Given the description of an element on the screen output the (x, y) to click on. 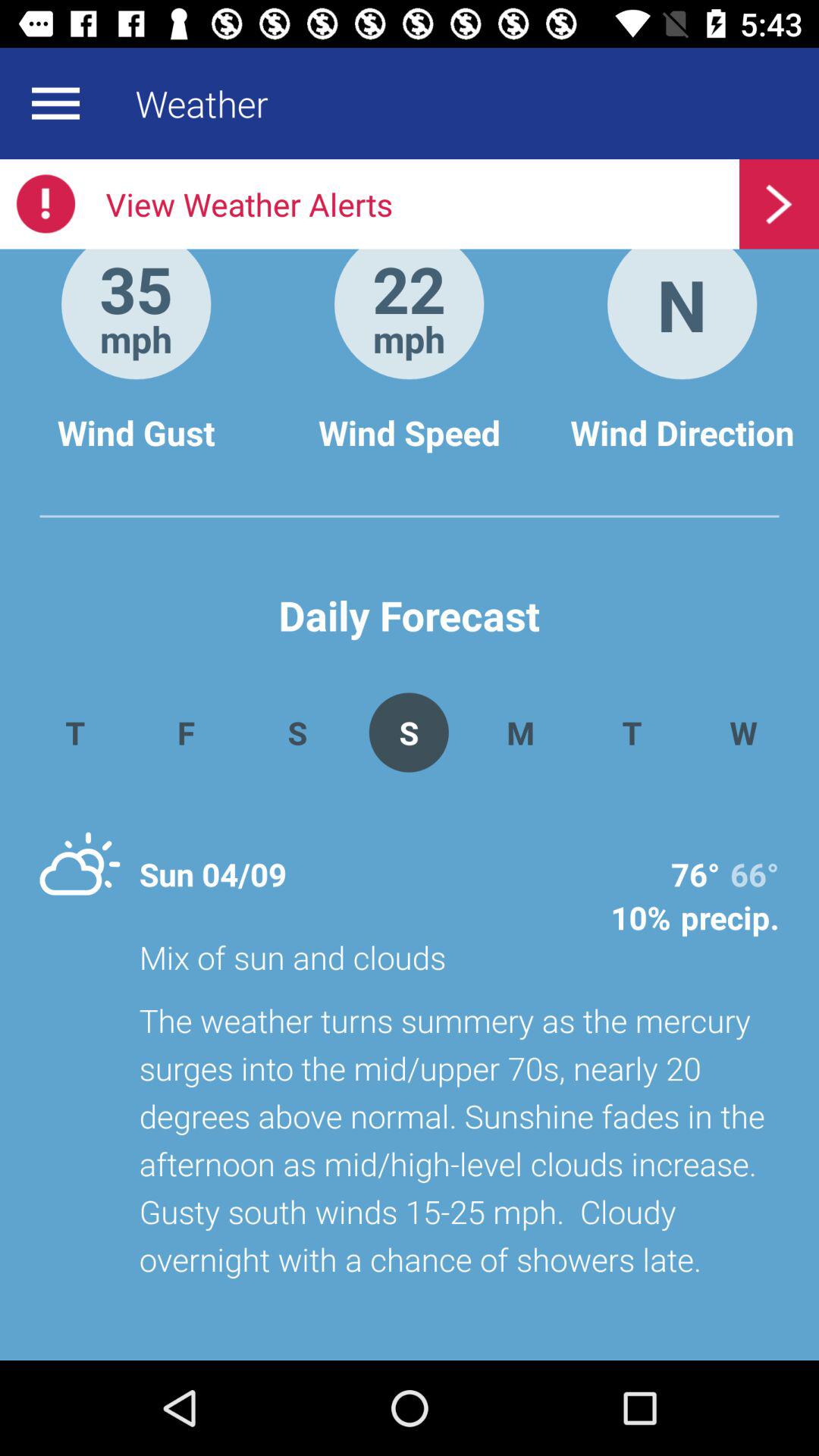
click item next to the s icon (520, 732)
